Given the description of an element on the screen output the (x, y) to click on. 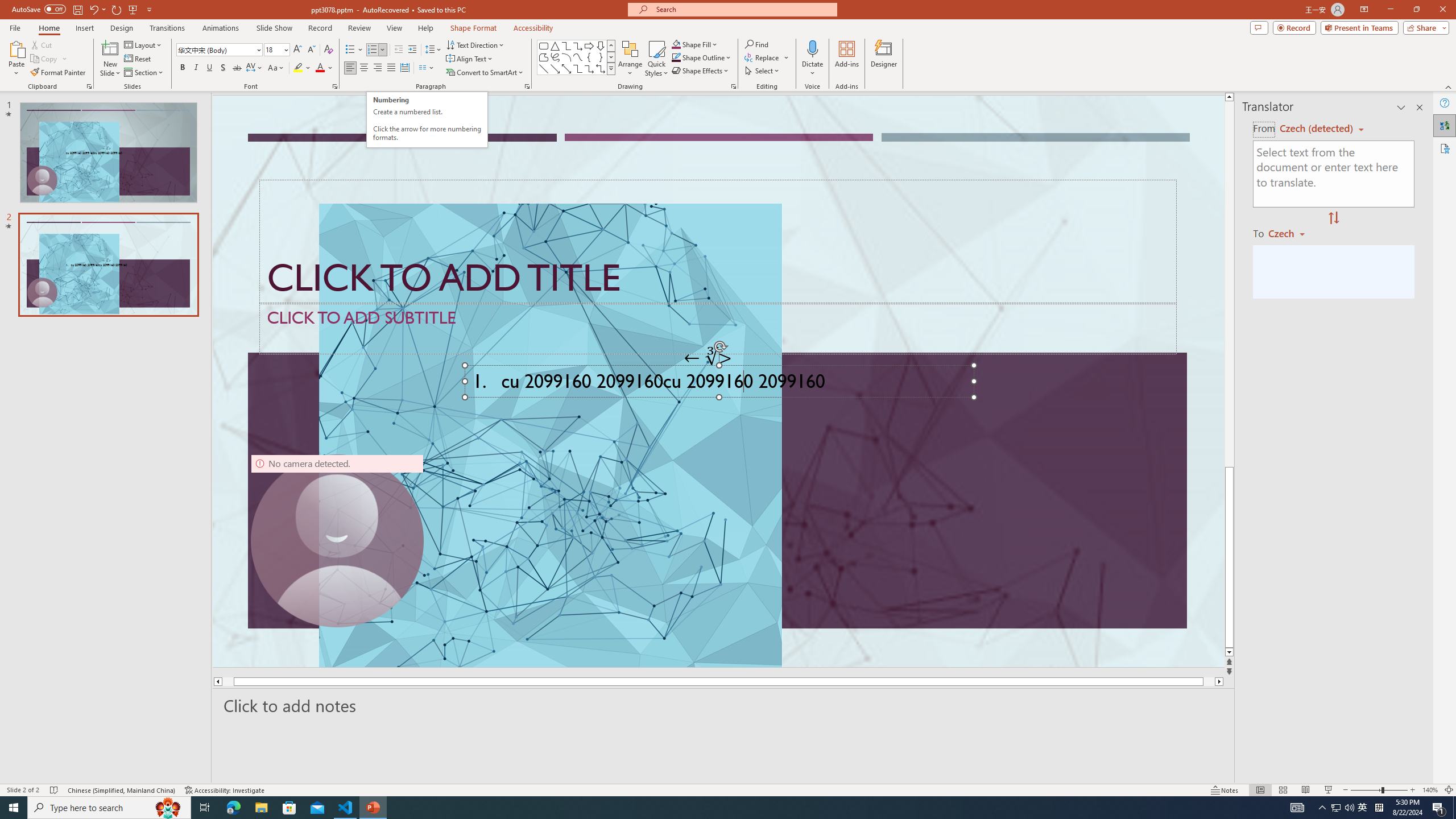
Arrange (630, 58)
Cut (42, 44)
Title TextBox (717, 241)
Page down (1229, 555)
TextBox 61 (717, 383)
Shapes (611, 68)
Line Spacing (433, 49)
Microsoft search (742, 9)
Find... (756, 44)
Line down (1229, 652)
